Given the description of an element on the screen output the (x, y) to click on. 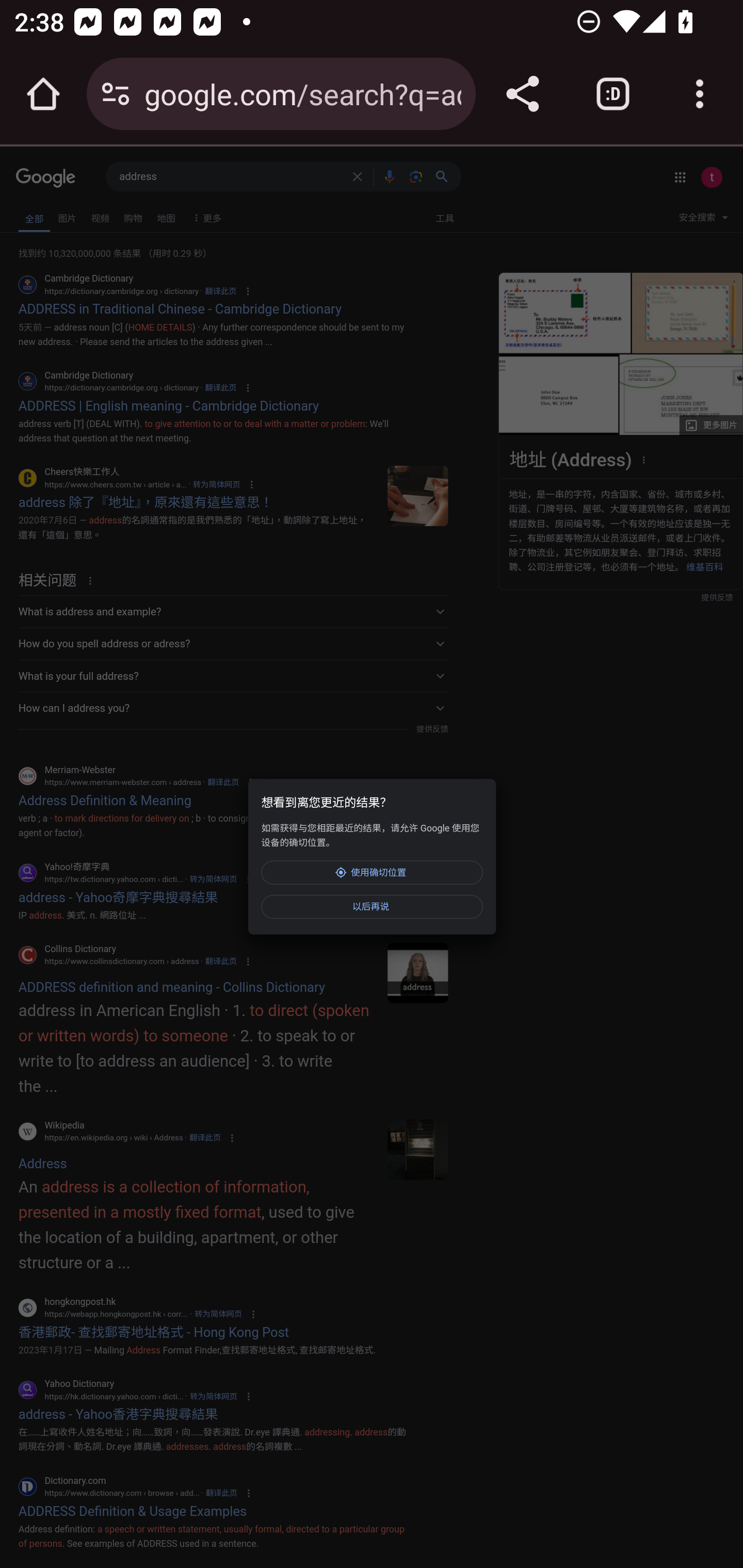
Open the home page (43, 93)
Connection is secure (115, 93)
Share (522, 93)
Switch or close tabs (612, 93)
Customize and control Google Chrome (699, 93)
